Given the description of an element on the screen output the (x, y) to click on. 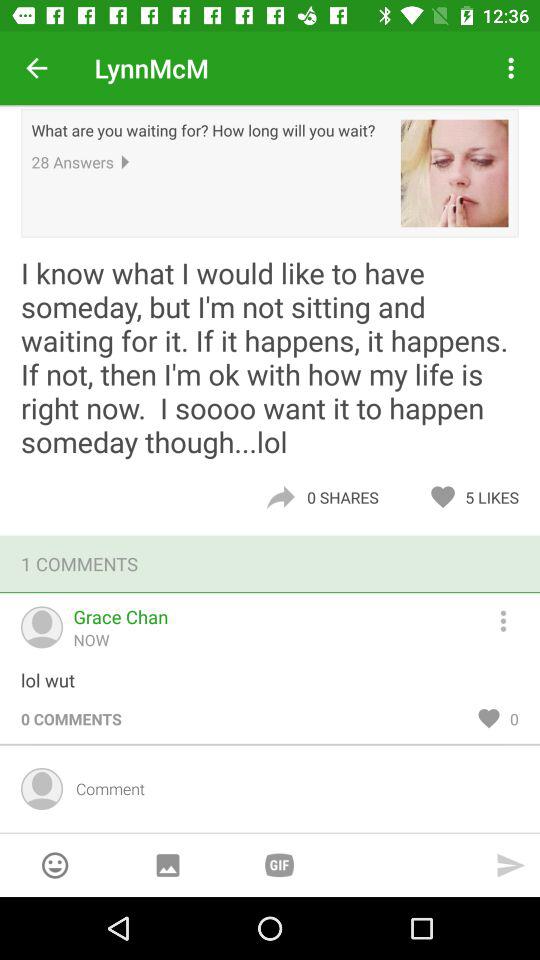
view profile image (454, 173)
